Given the description of an element on the screen output the (x, y) to click on. 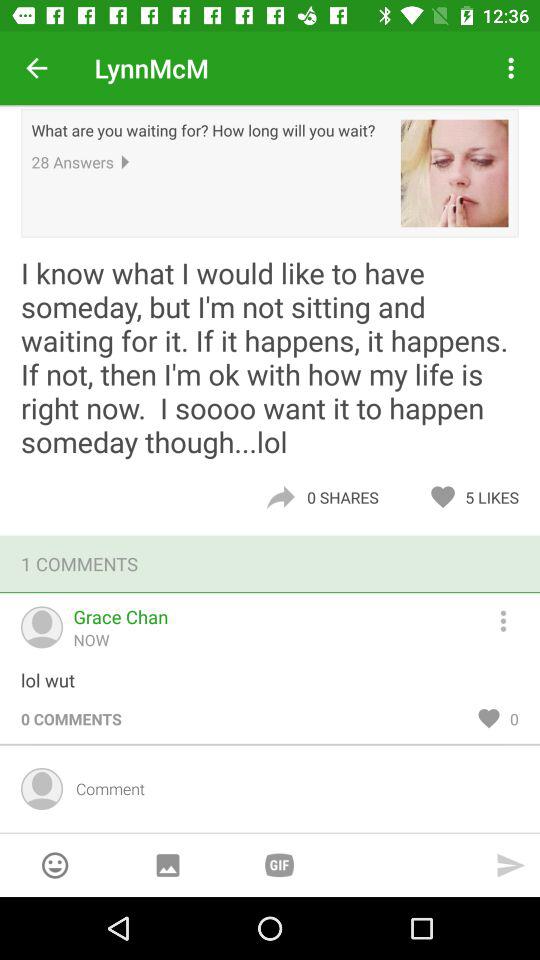
view profile image (454, 173)
